Given the description of an element on the screen output the (x, y) to click on. 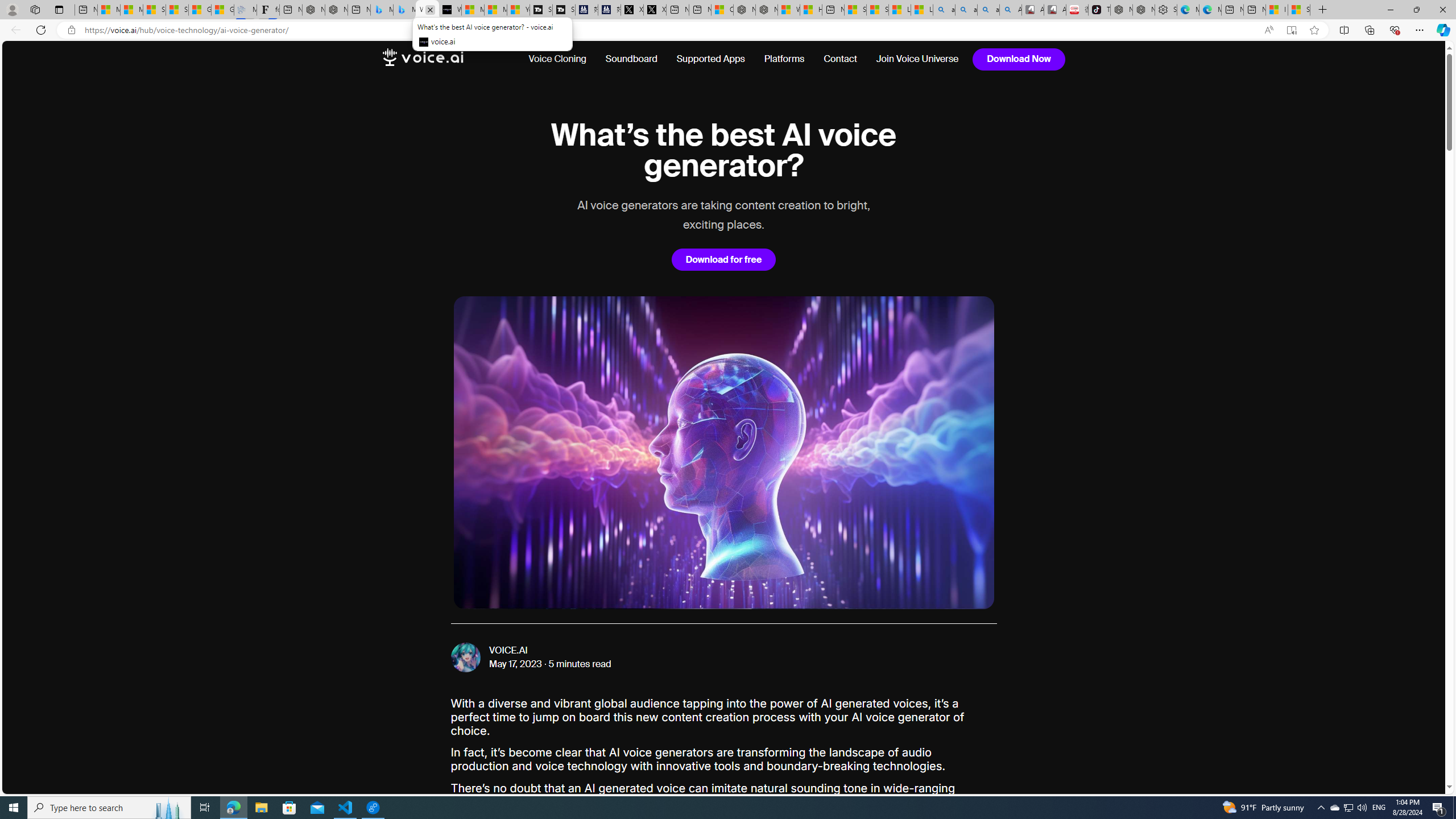
amazon - Search Images (988, 9)
Enter Immersive Reader (F9) (1291, 29)
Microsoft Bing Travel - Stays in Bangkok, Bangkok, Thailand (381, 9)
Amazon Echo Robot - Search Images (1010, 9)
Platforms (783, 59)
VOICE.AI (508, 650)
